Given the description of an element on the screen output the (x, y) to click on. 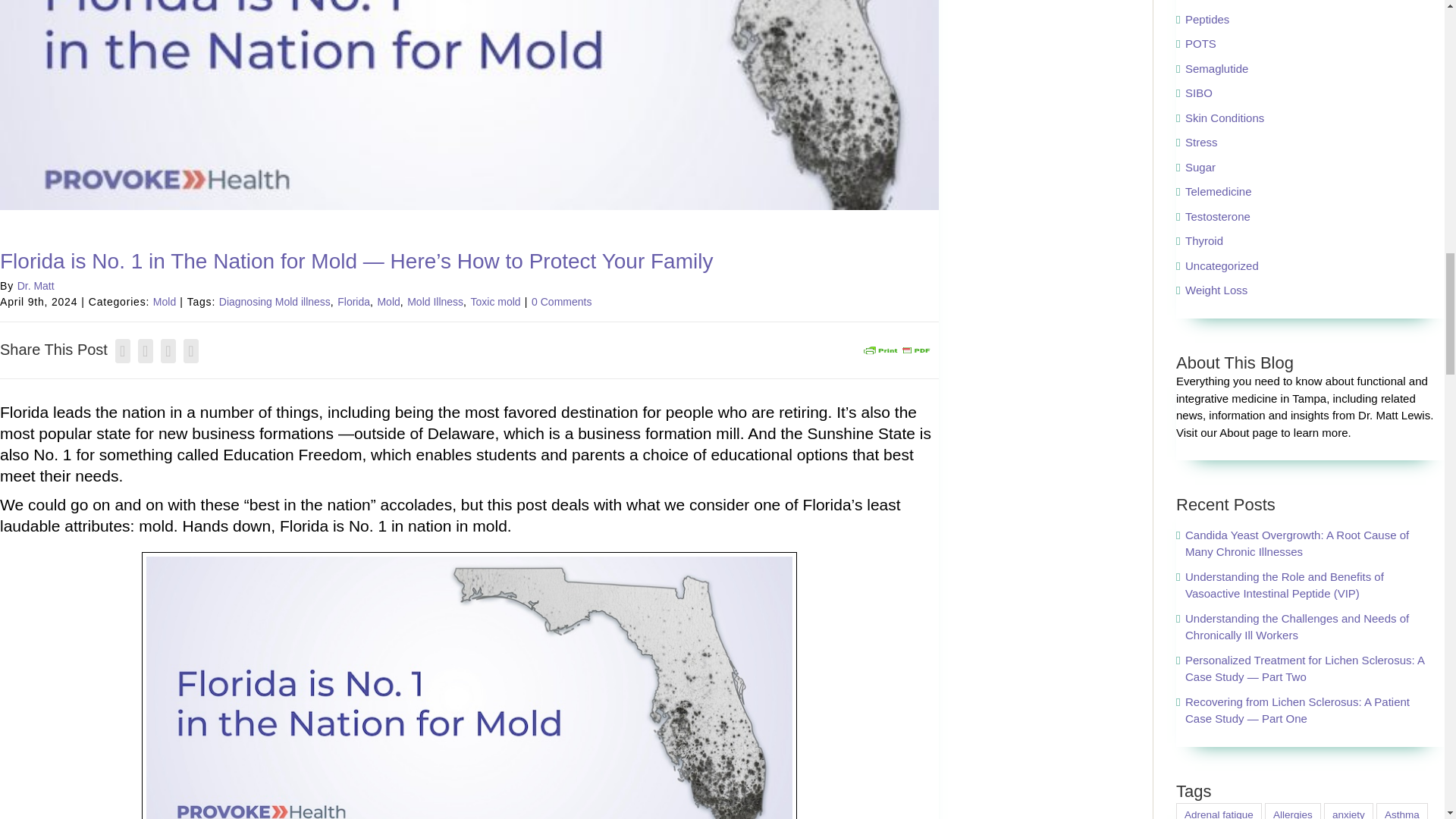
Posts by Dr. Matt (36, 285)
